Given the description of an element on the screen output the (x, y) to click on. 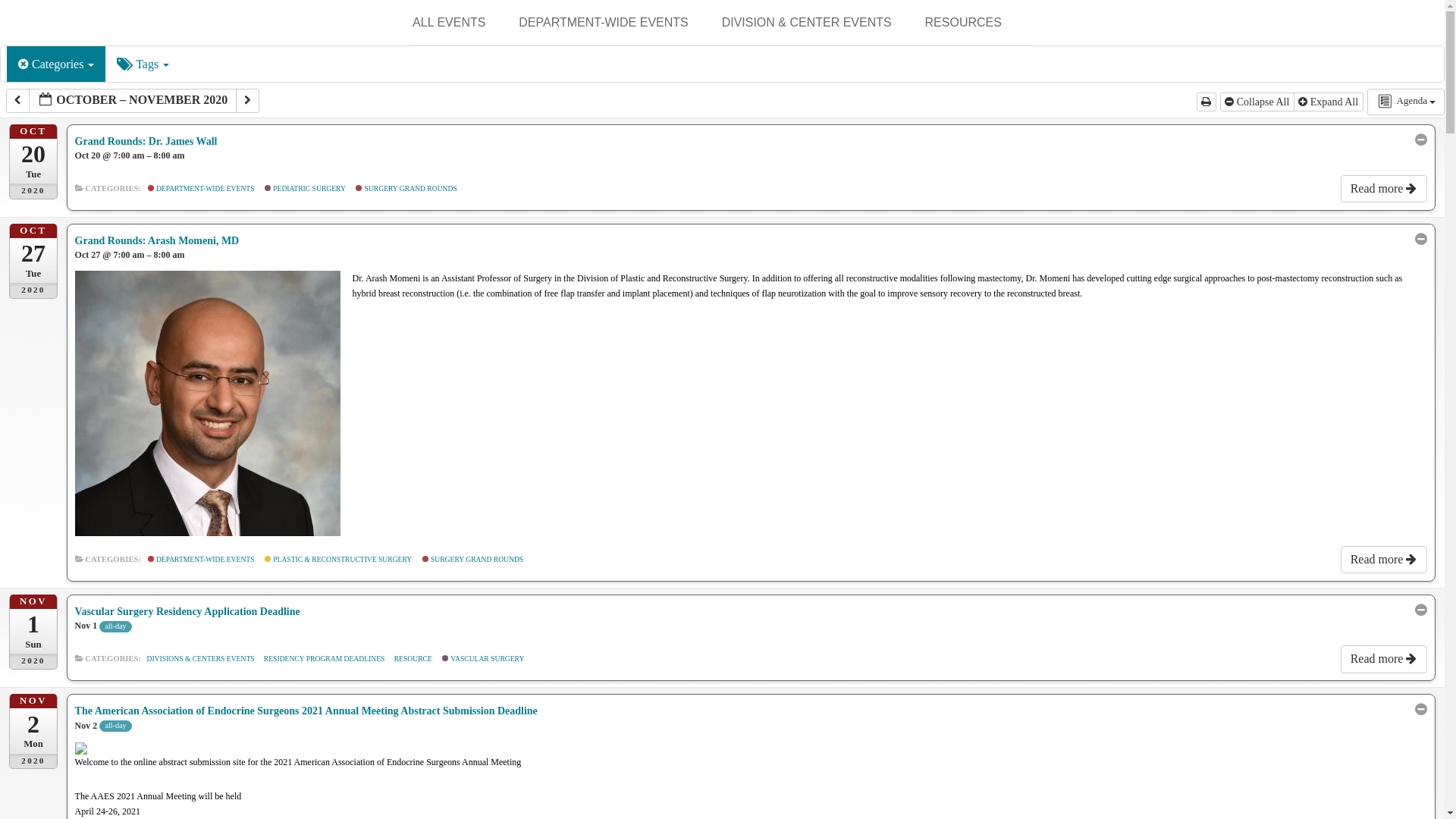
Categories (55, 63)
ABDOMINAL TRANSPLANTATION (797, 72)
DEPARTMENT-WIDE EVENTS (602, 22)
ALL EVENTS (448, 22)
SURGERY GRAND ROUNDS (593, 61)
RESOURCES (962, 22)
Clear category filter (24, 63)
